Given the description of an element on the screen output the (x, y) to click on. 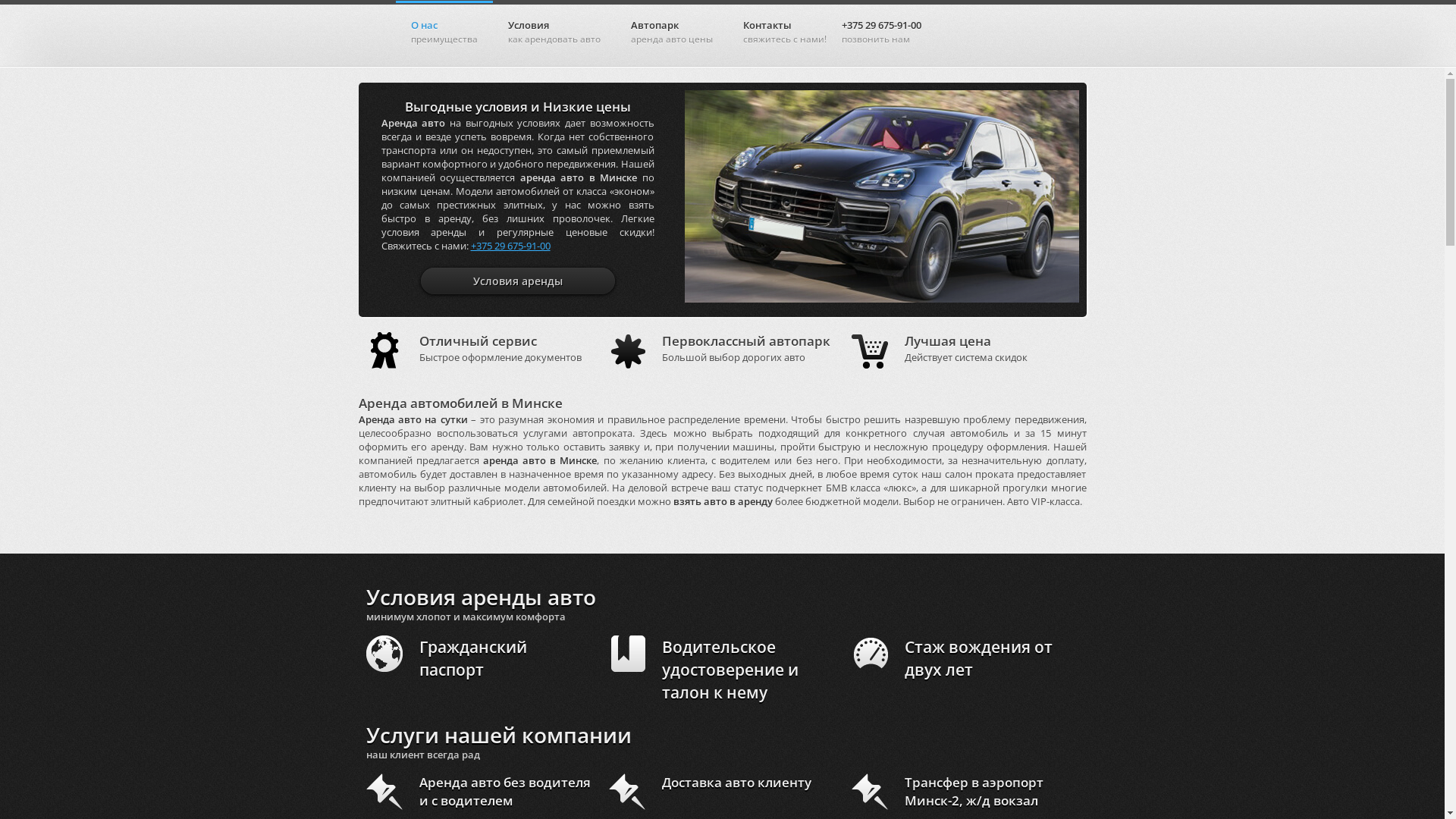
4 Element type: text (1003, 289)
5 Element type: text (1023, 289)
3 Element type: text (982, 289)
7 Element type: text (1064, 289)
+375 29 675-91-00 Element type: text (509, 245)
2 Element type: text (962, 289)
6 Element type: text (1044, 289)
1 Element type: text (941, 289)
